Given the description of an element on the screen output the (x, y) to click on. 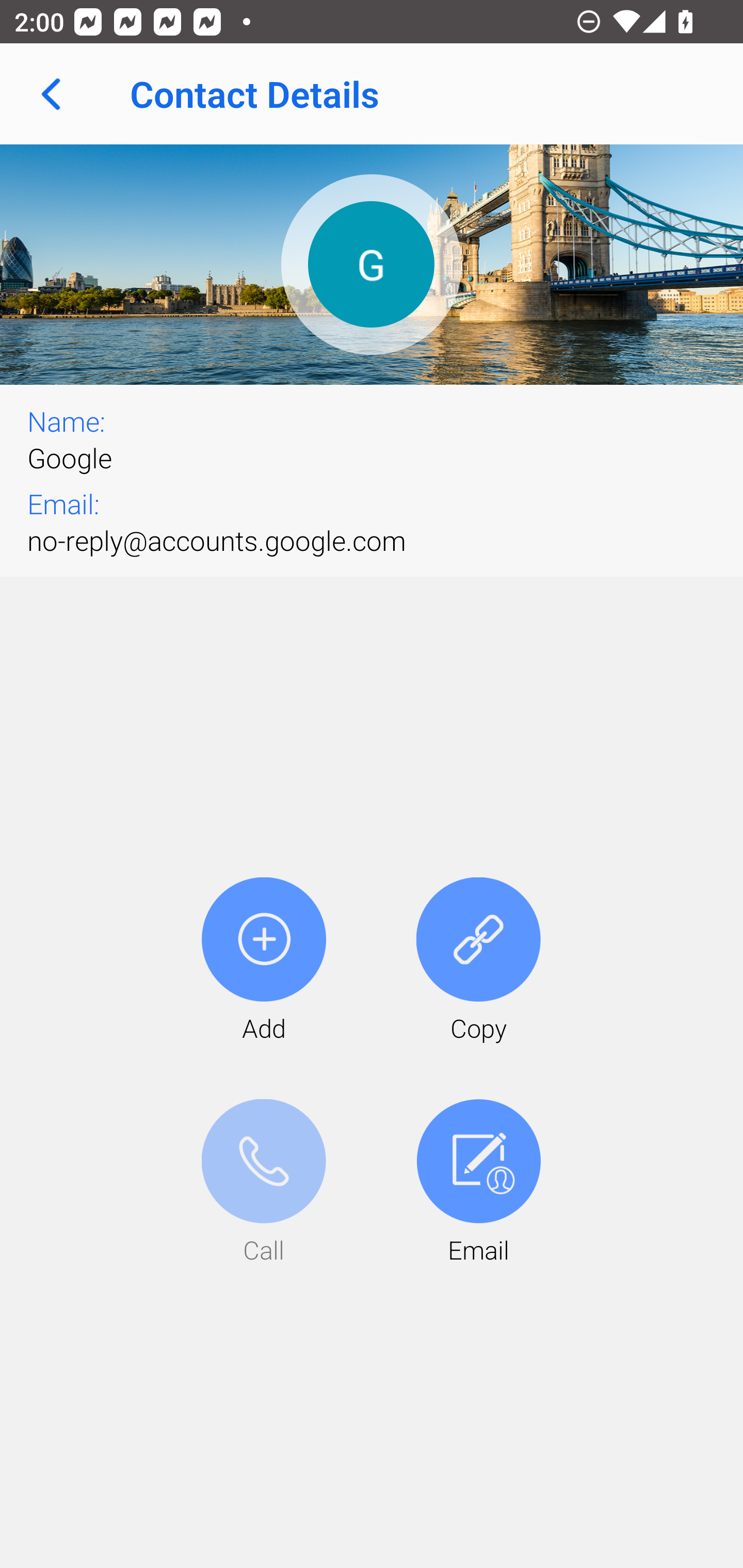
Navigate up (50, 93)
Add (264, 961)
Copy (478, 961)
Call (264, 1182)
Email (478, 1182)
